Given the description of an element on the screen output the (x, y) to click on. 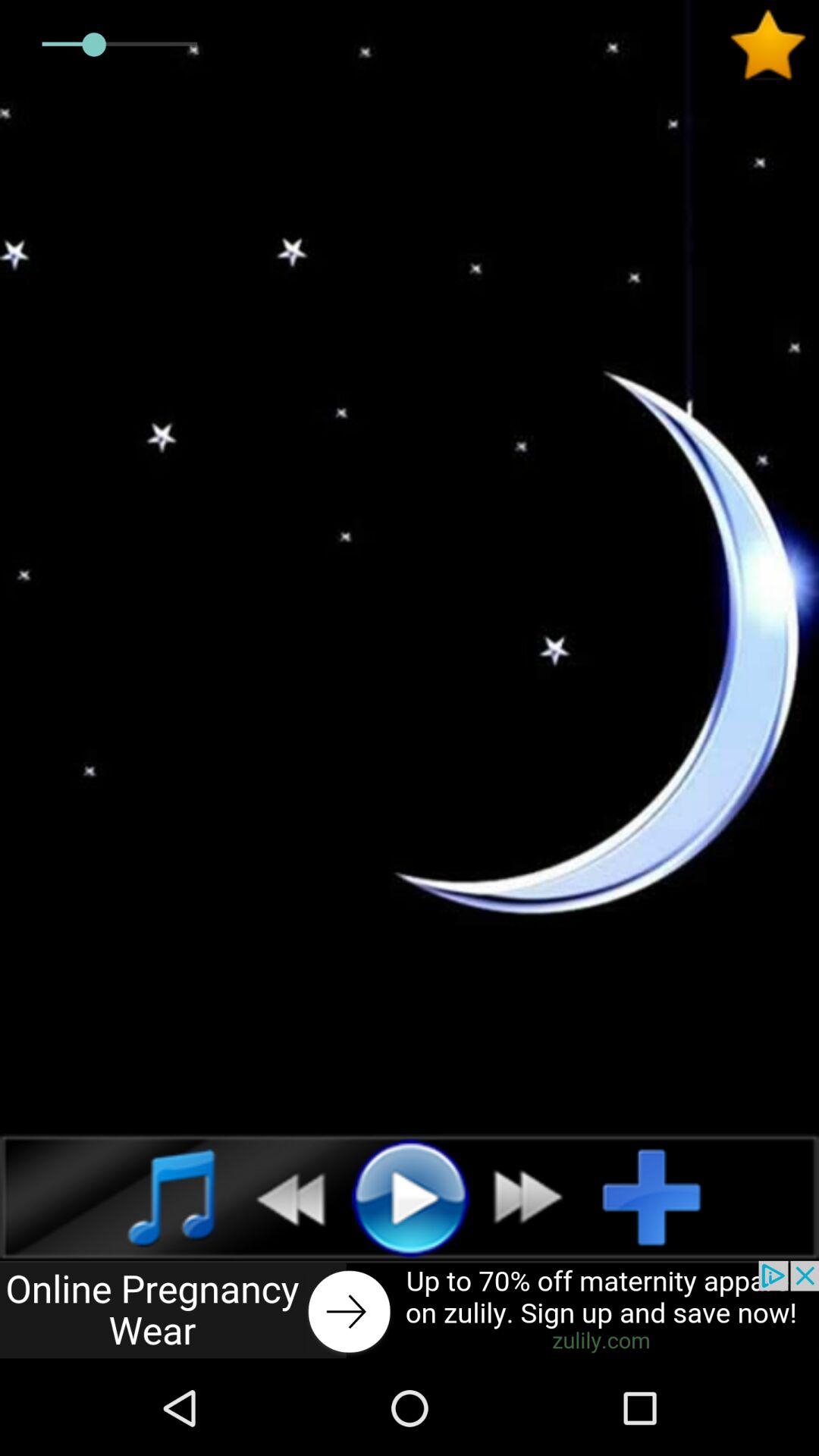
toggle autoplay option (664, 1196)
